Given the description of an element on the screen output the (x, y) to click on. 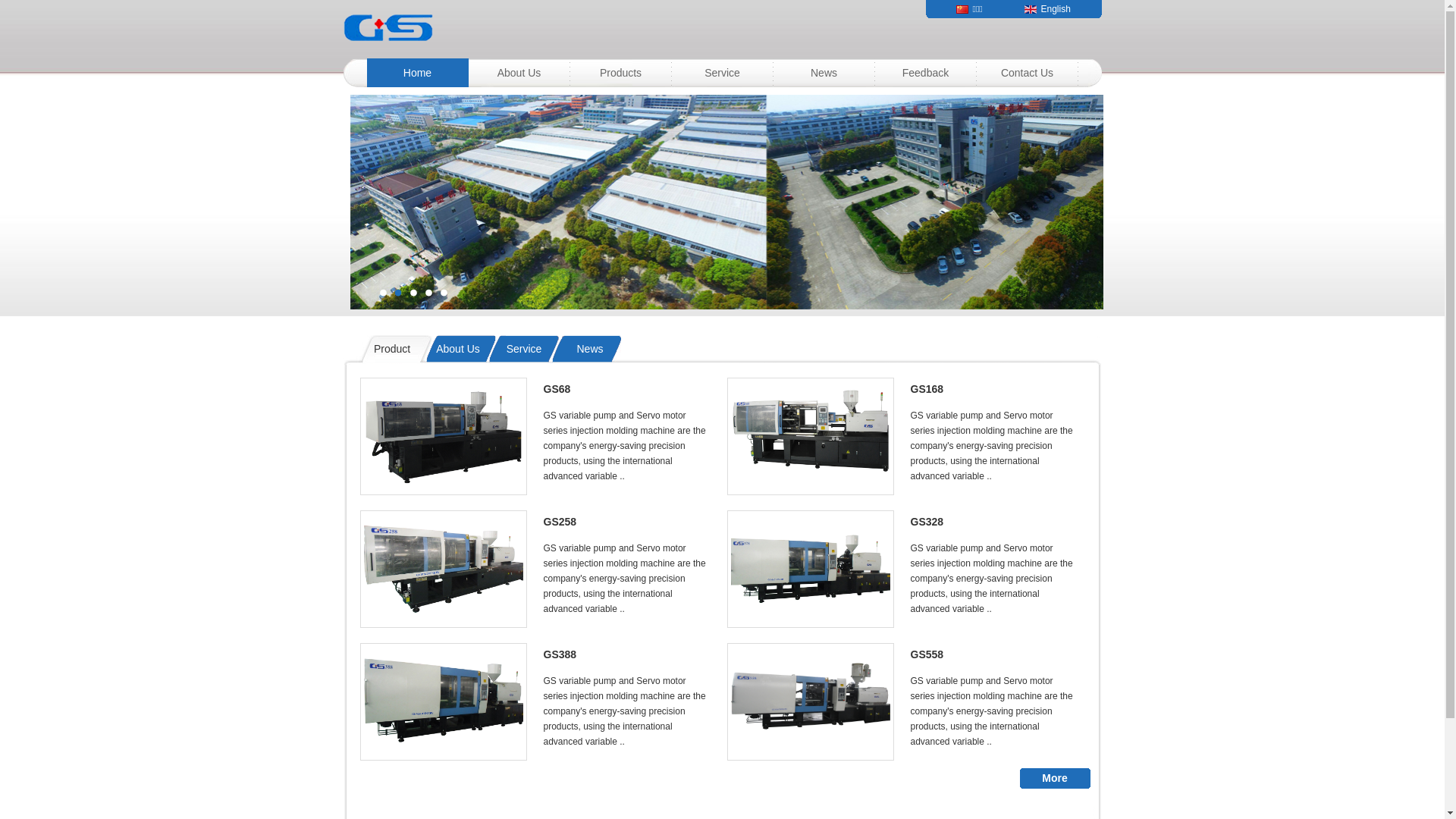
More Element type: text (1054, 778)
About Us Element type: text (519, 72)
Service Element type: text (722, 72)
GS558 Element type: text (993, 654)
English Element type: text (1053, 9)
Home Element type: text (417, 72)
GS328 Element type: text (993, 521)
GS68 Element type: text (625, 388)
Contact Us Element type: text (1027, 72)
News Element type: text (824, 72)
GS388 Element type: text (625, 654)
Products Element type: text (620, 72)
GS258 Element type: text (625, 521)
Feedback Element type: text (925, 72)
GS168 Element type: text (993, 388)
